Given the description of an element on the screen output the (x, y) to click on. 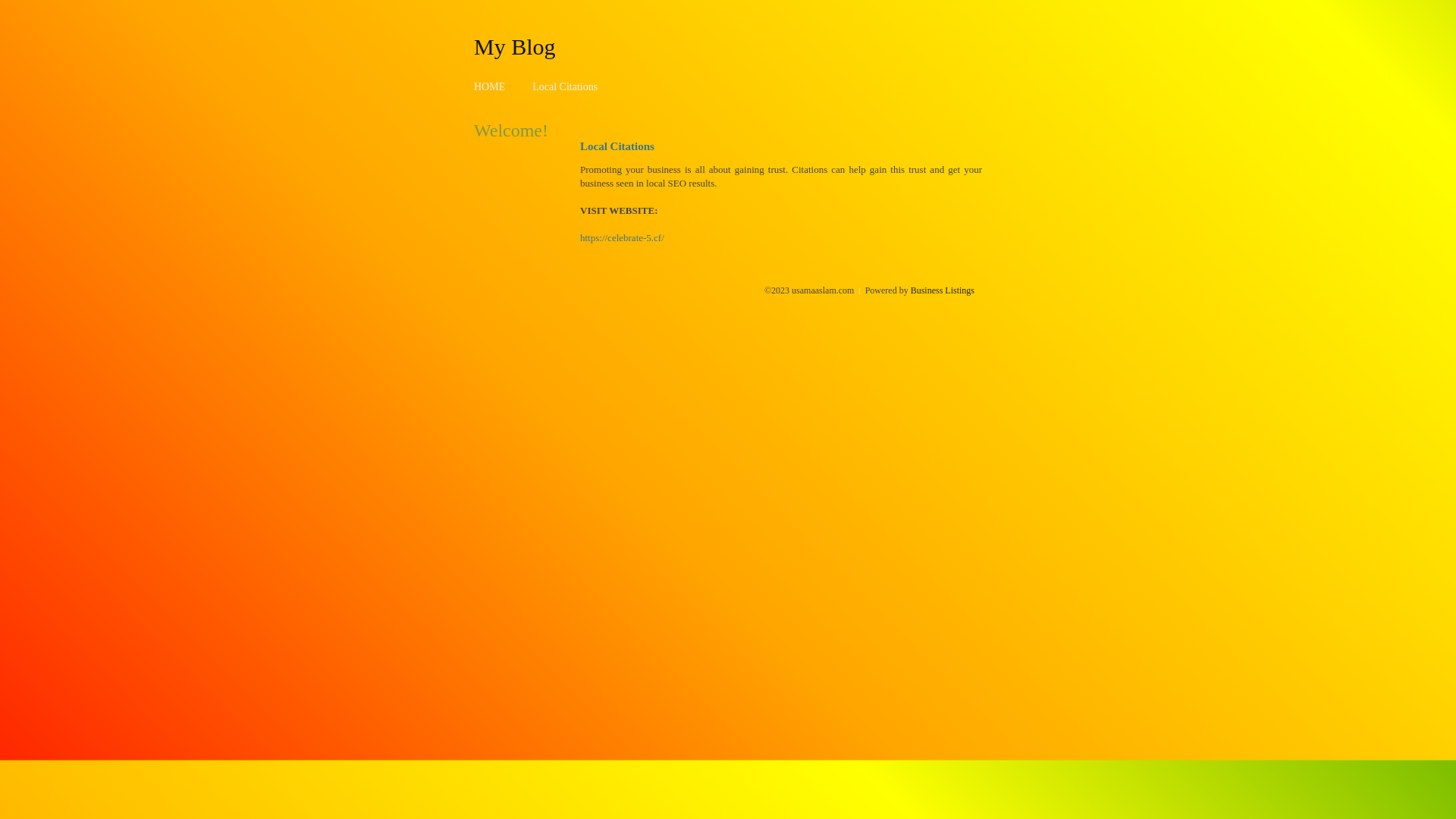
Local Citations Element type: text (564, 86)
HOME Element type: text (489, 86)
Business Listings Element type: text (942, 290)
https://celebrate-5.cf/ Element type: text (622, 237)
My Blog Element type: text (514, 46)
